Given the description of an element on the screen output the (x, y) to click on. 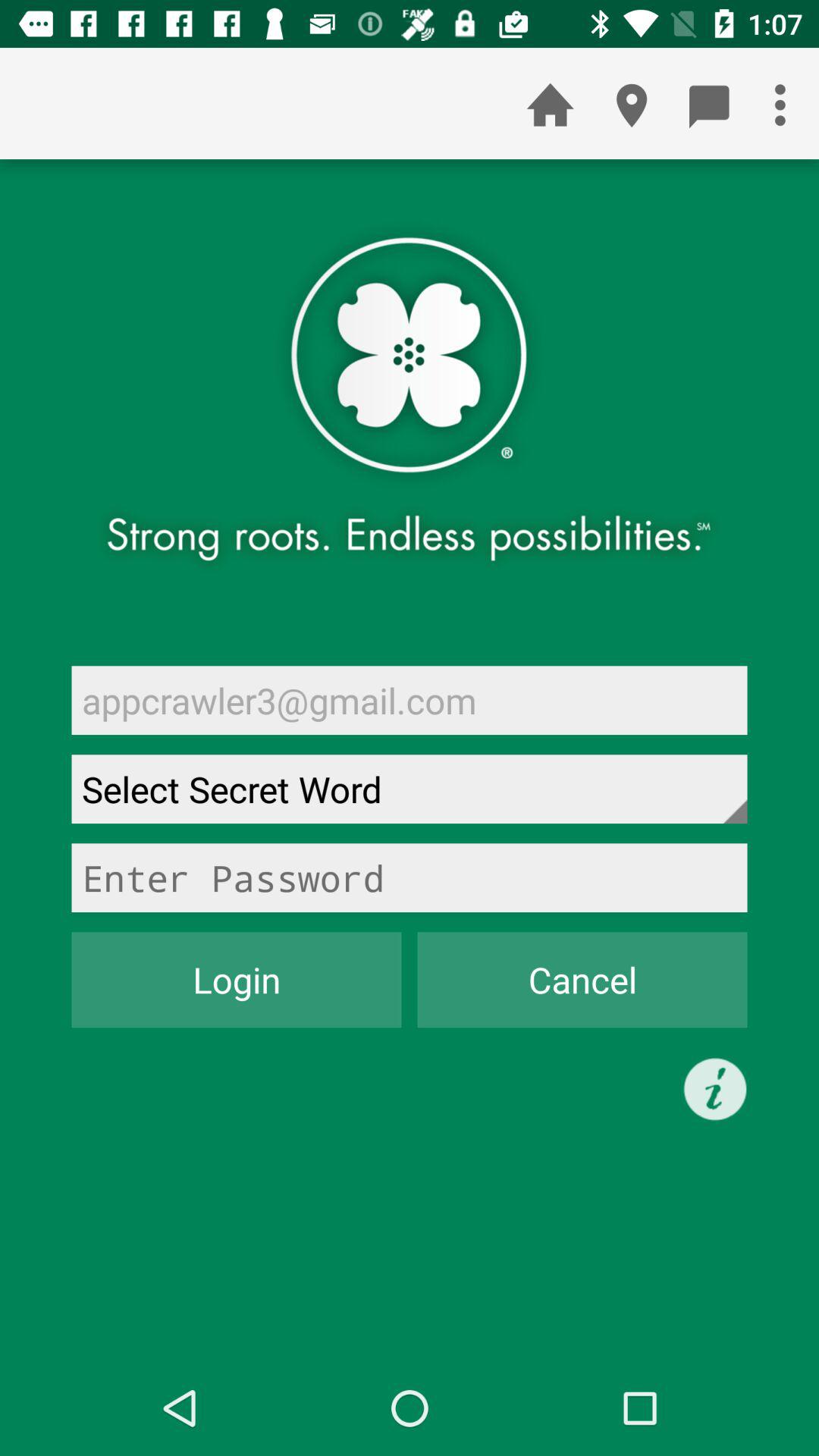
click icon to the left of cancel icon (236, 979)
